Given the description of an element on the screen output the (x, y) to click on. 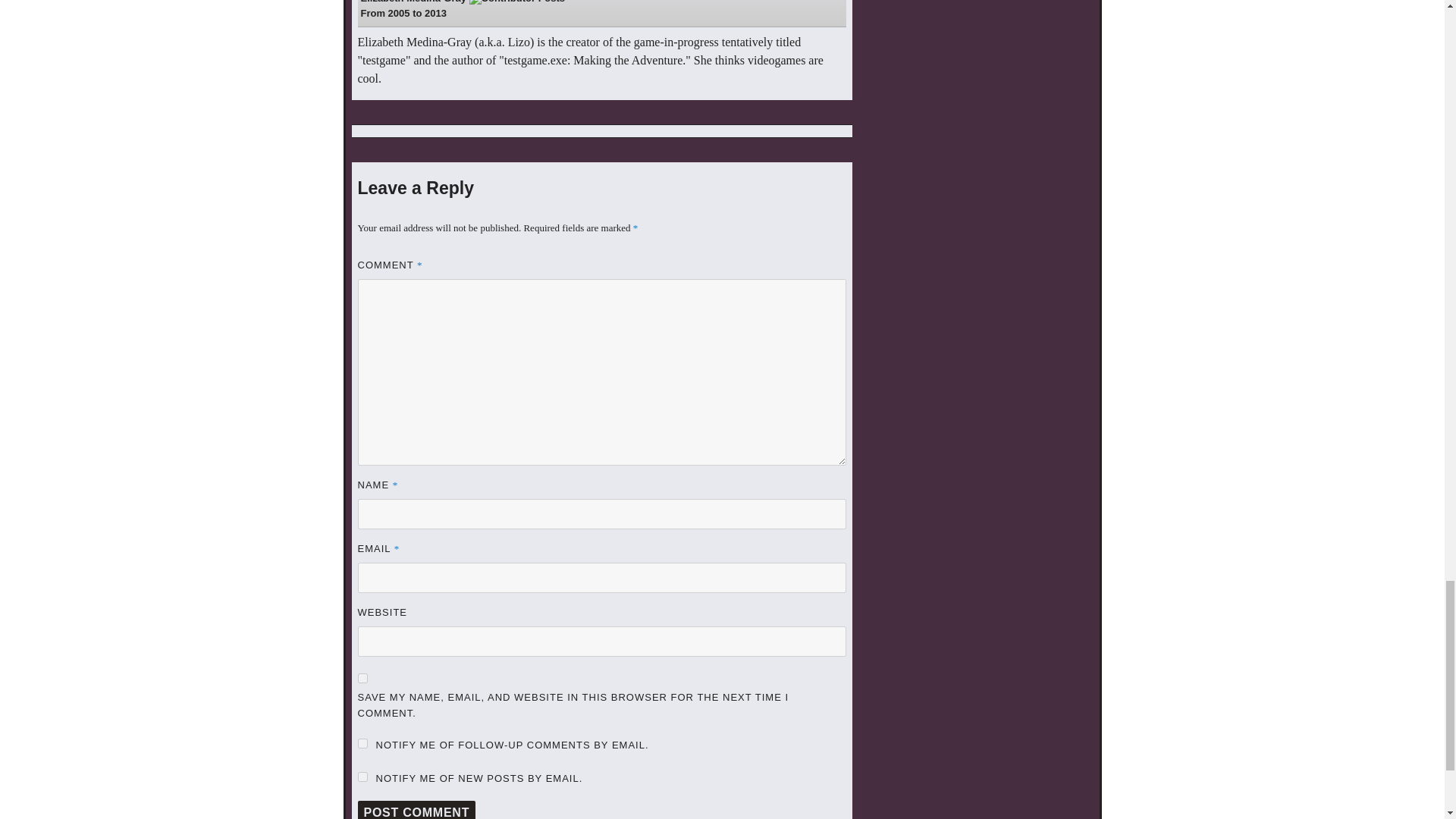
yes (363, 678)
subscribe (463, 2)
subscribe (363, 777)
Post Comment (363, 743)
Post Comment (417, 809)
